Given the description of an element on the screen output the (x, y) to click on. 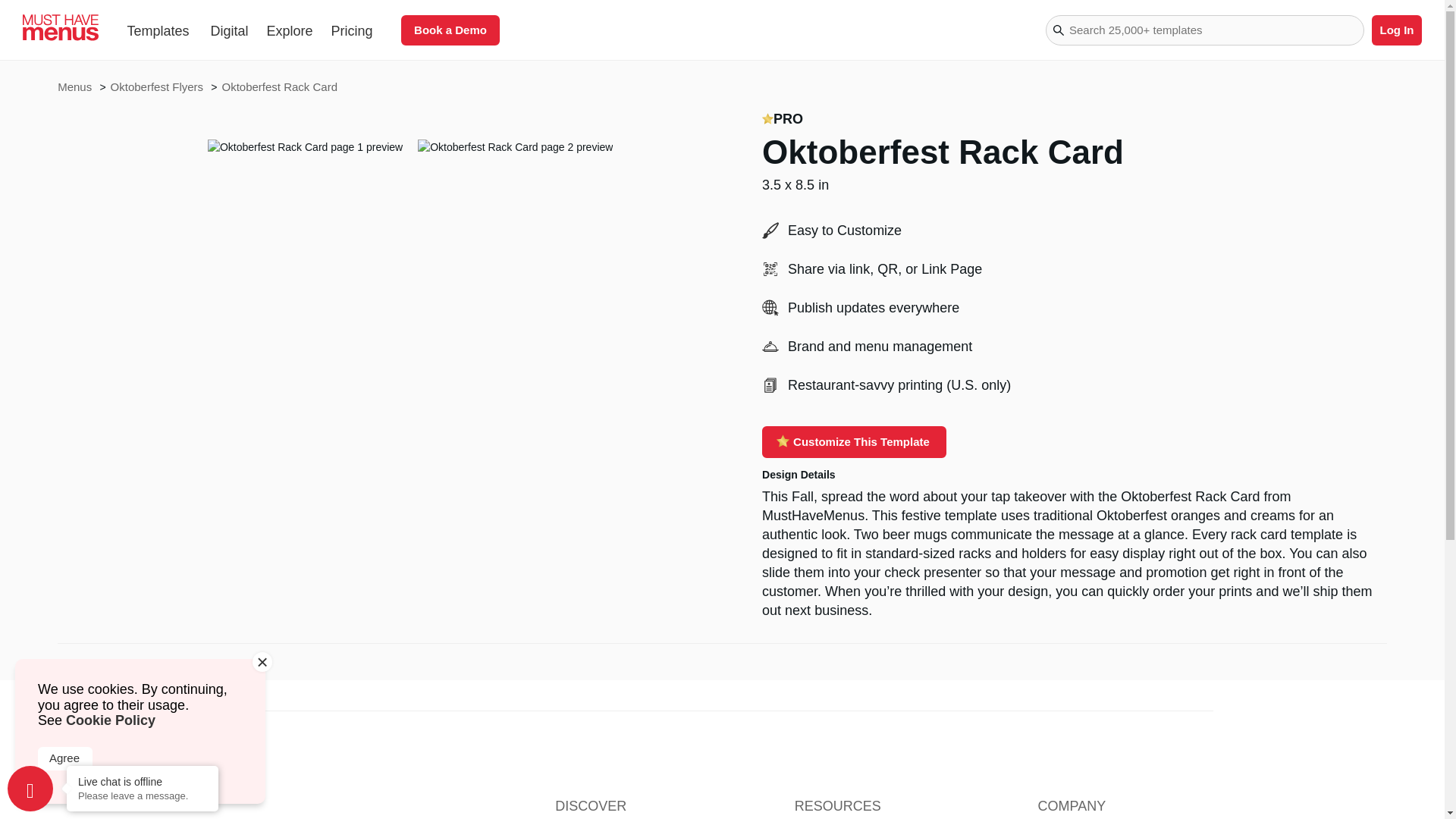
Explore (289, 30)
Menus (76, 86)
Log In (1396, 30)
Digital (229, 30)
Oktoberfest Flyers (158, 86)
Book a Demo (450, 30)
Templates (157, 30)
Please leave a message. (142, 795)
Customize This Template (853, 441)
Live chat is offline (142, 781)
